Given the description of an element on the screen output the (x, y) to click on. 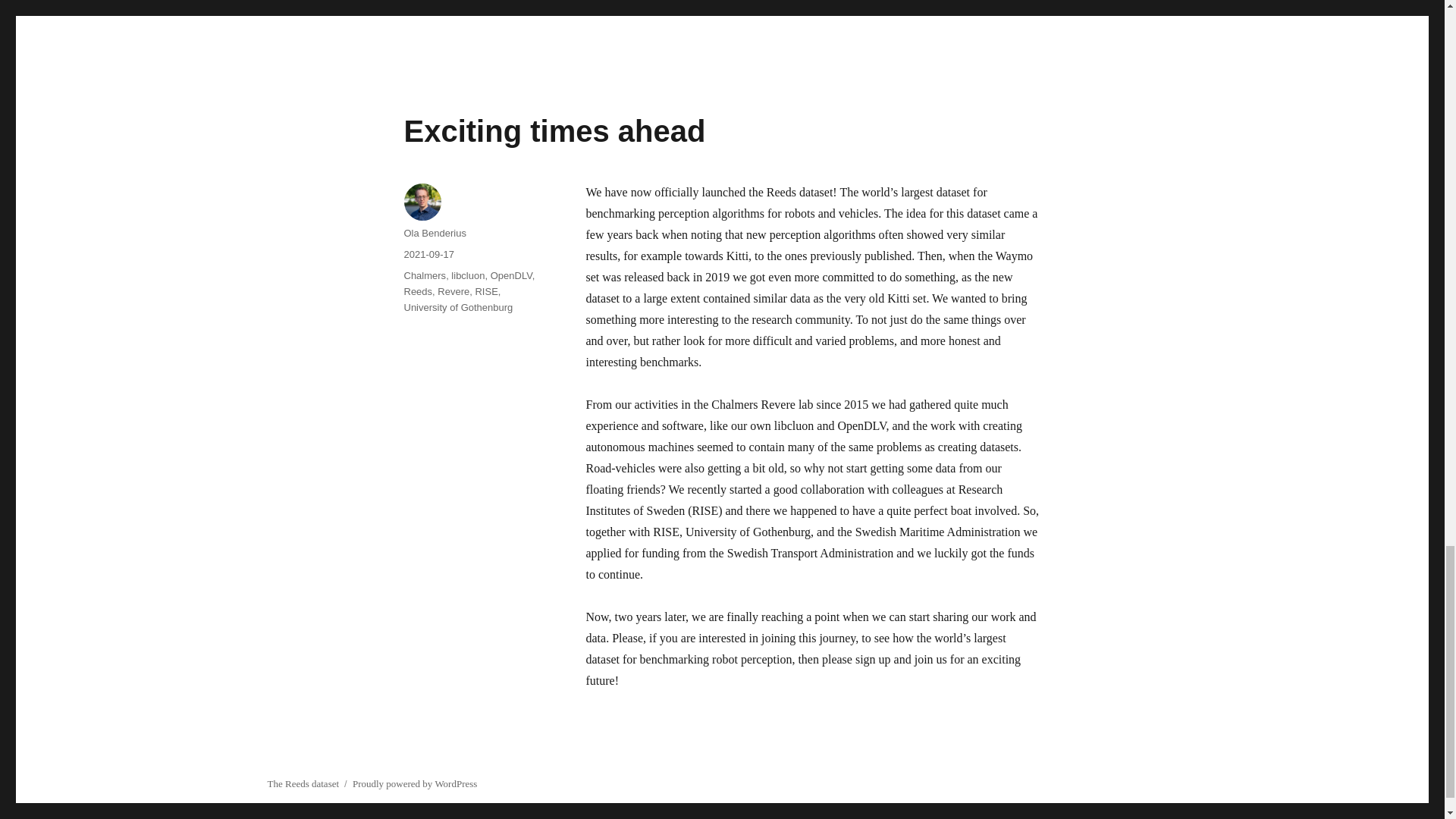
libcluon (467, 275)
Exciting times ahead (553, 131)
Revere (453, 291)
University of Gothenburg (457, 307)
RISE (485, 291)
Chalmers (424, 275)
Ola Benderius (434, 233)
2021-09-17 (428, 254)
OpenDLV (511, 275)
Reeds (417, 291)
